Given the description of an element on the screen output the (x, y) to click on. 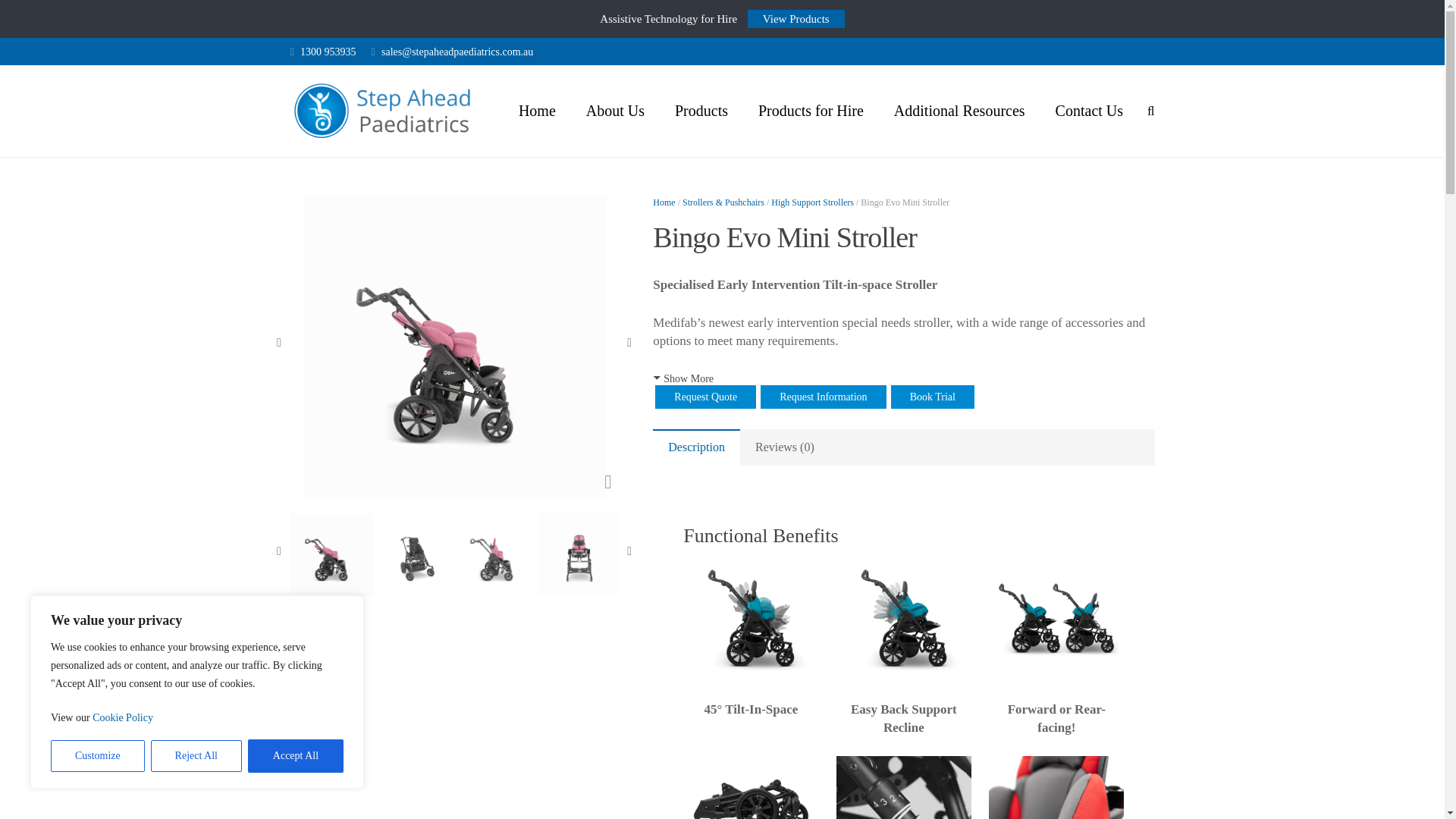
Additional Resources (960, 111)
1300 953935 (327, 50)
Reject All (196, 756)
Products for Hire (810, 111)
Contact Us (1089, 111)
Accept All (295, 756)
About Us (614, 111)
Cookie Policy (122, 717)
Customize (97, 756)
Products (700, 111)
